Given the description of an element on the screen output the (x, y) to click on. 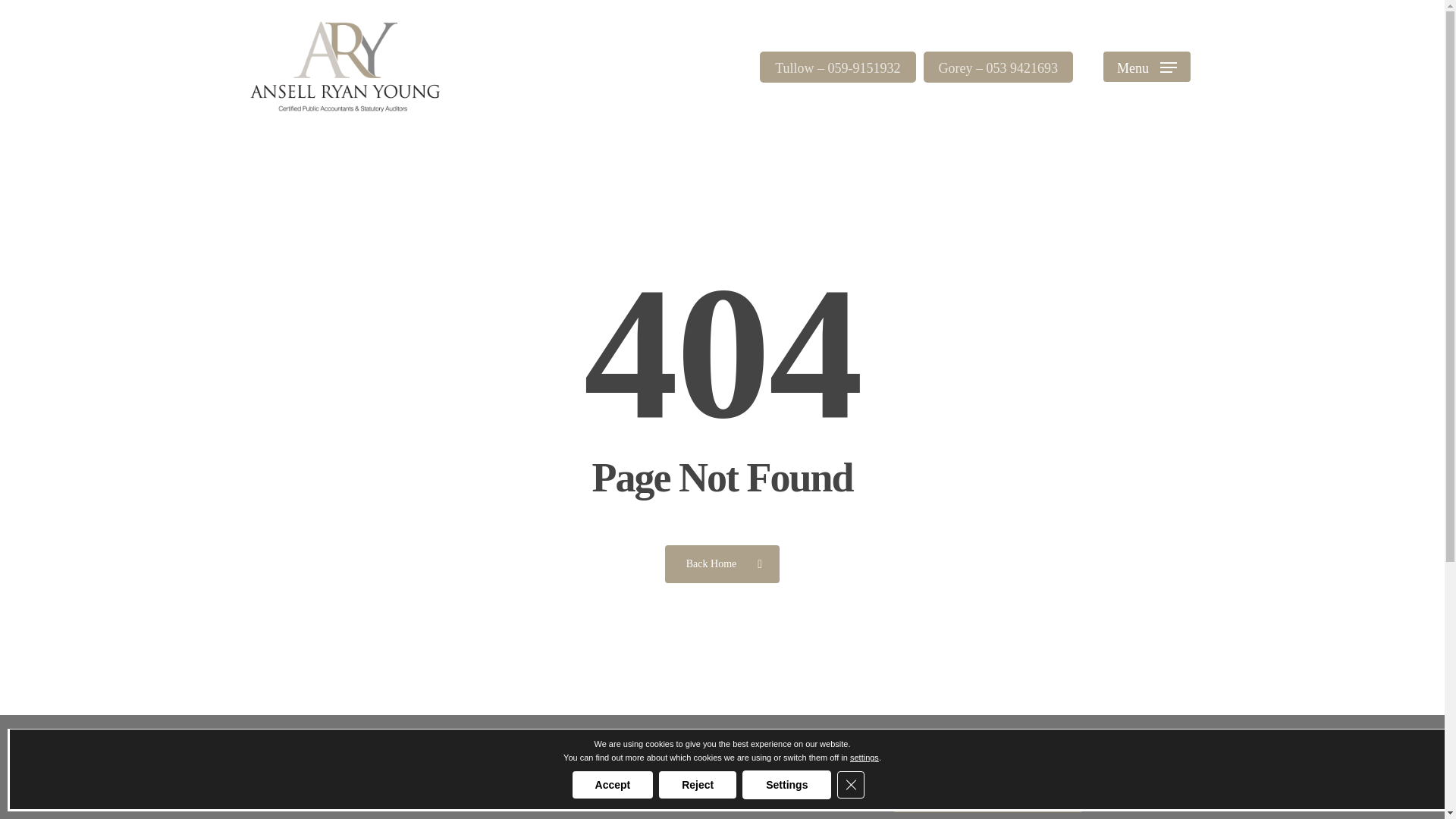
Menu (1147, 66)
Back Home (721, 563)
Accept (612, 784)
Make a Payment (987, 789)
